Given the description of an element on the screen output the (x, y) to click on. 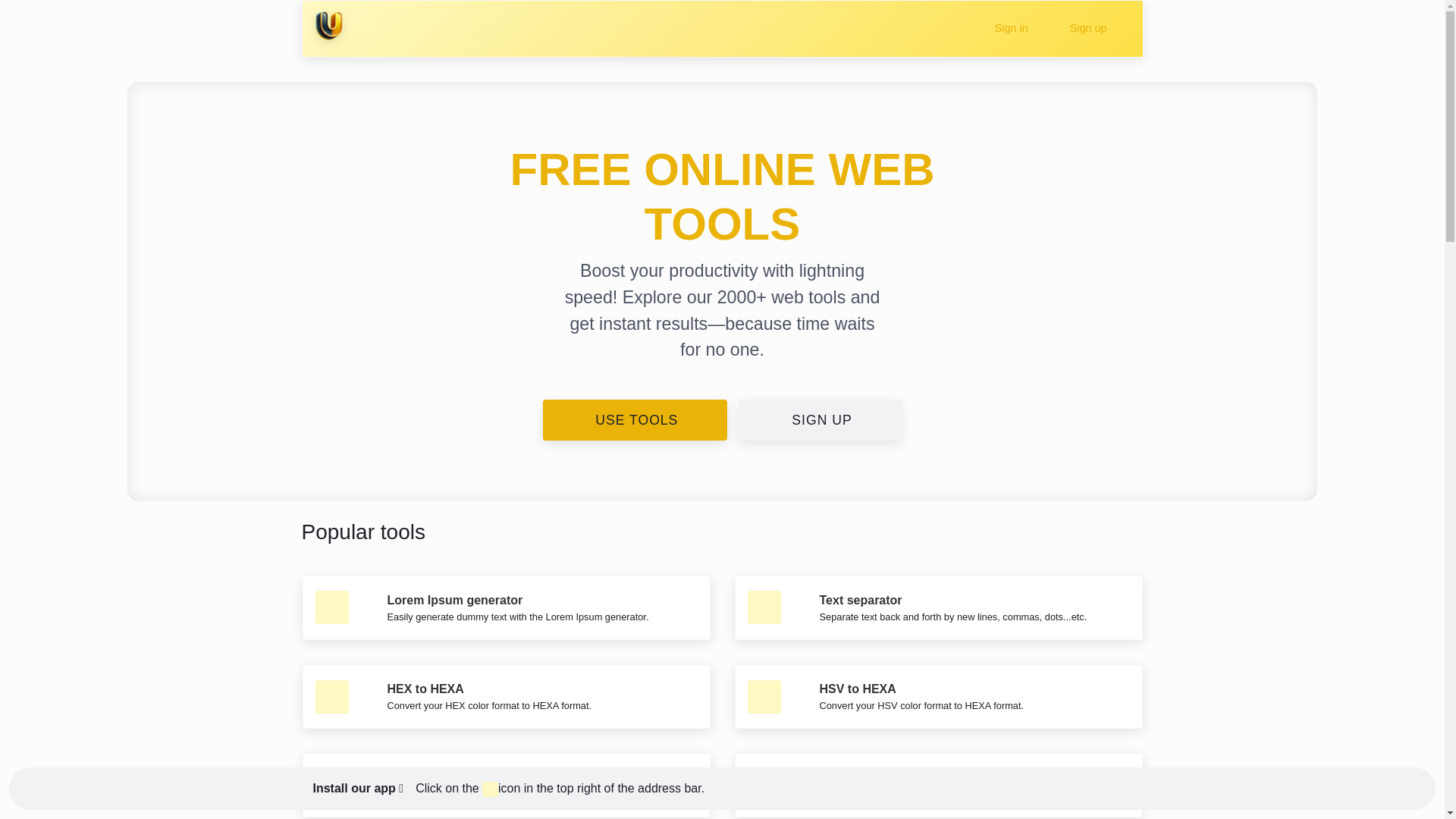
USE TOOLS (634, 419)
Text separator (859, 599)
SIGN UP (820, 419)
RGB to HEXA (858, 777)
HSV to HEXA (856, 688)
HEX to HEXA (425, 688)
Lorem Ipsum generator (454, 599)
Sign in (1008, 28)
HEXA to HSV (425, 777)
Sign up (1085, 28)
